Given the description of an element on the screen output the (x, y) to click on. 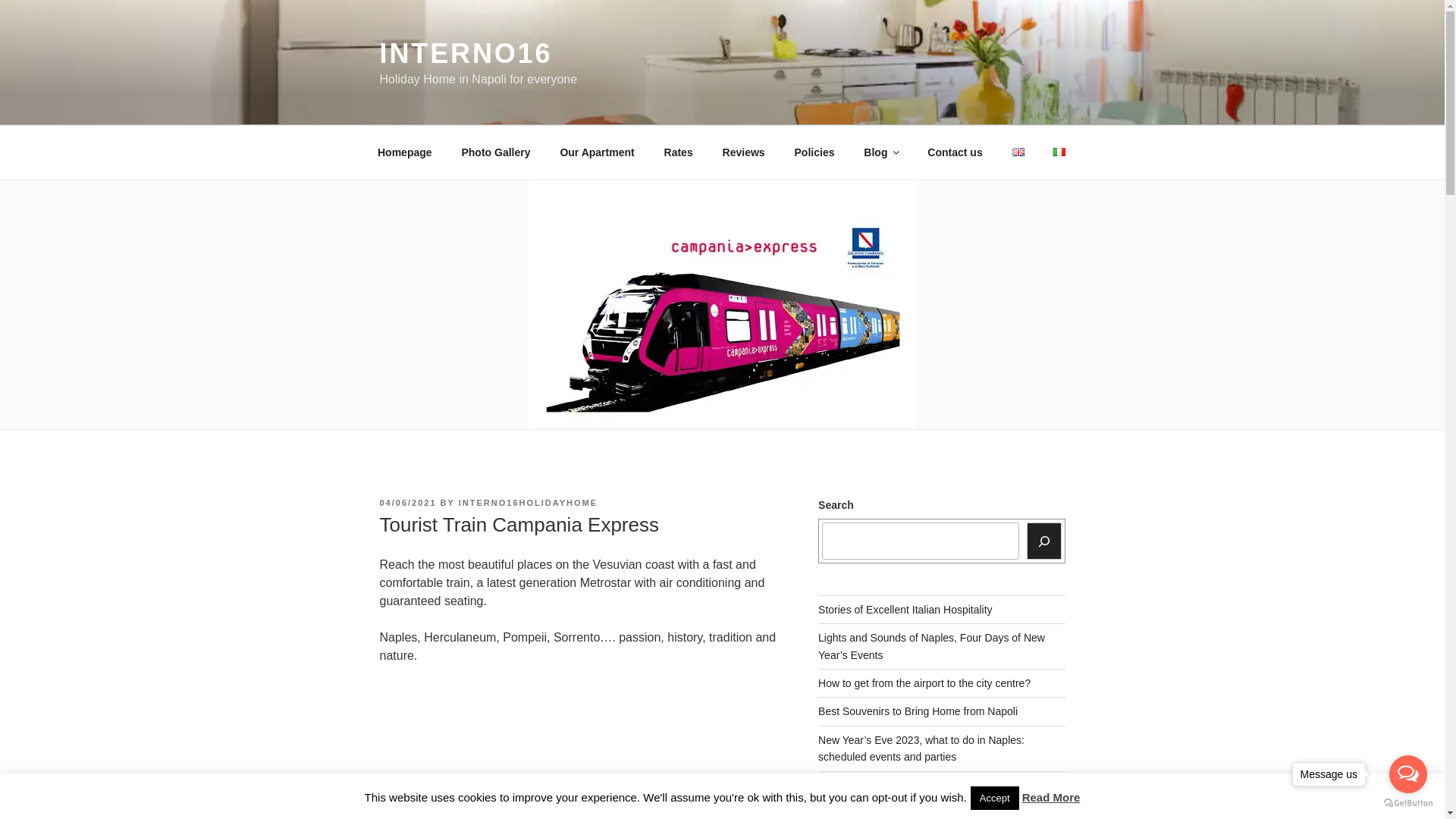
Stories of Excellent Italian Hospitality (905, 609)
Best Souvenirs to Bring Home from Napoli (917, 711)
Policies (813, 151)
Contact us (954, 151)
Blog (880, 151)
Homepage (404, 151)
INTERNO16 (464, 52)
Rates (678, 151)
Reviews (743, 151)
Photo Gallery (495, 151)
INTERNO16HOLIDAYHOME (527, 501)
How to get from the airport to the city centre? (924, 683)
Our Apartment (597, 151)
